Given the description of an element on the screen output the (x, y) to click on. 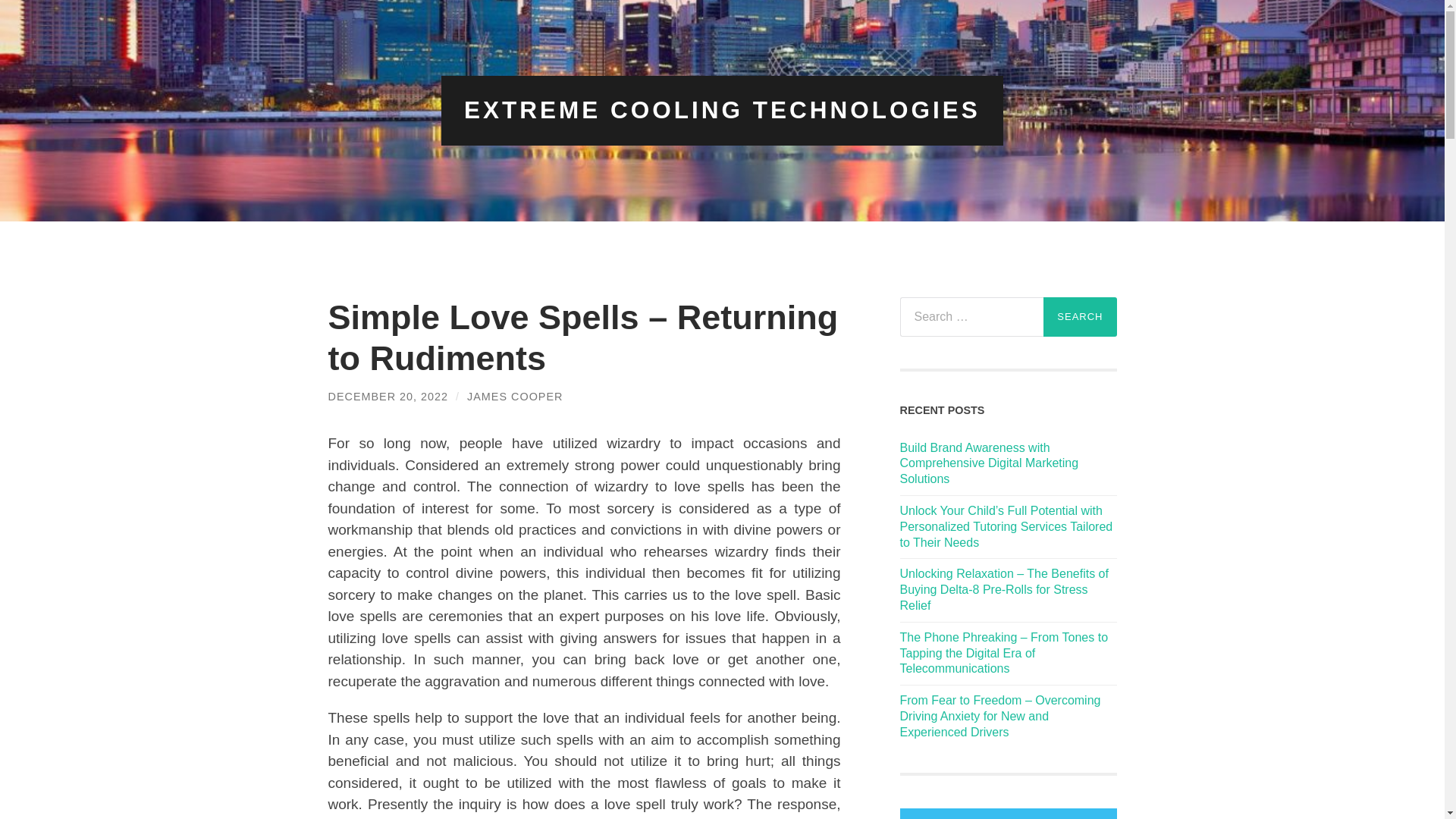
Search (1079, 316)
EXTREME COOLING TECHNOLOGIES (721, 109)
Search (1079, 316)
JAMES COOPER (514, 395)
DECEMBER 20, 2022 (387, 395)
Posts by James Cooper (514, 395)
Search (1079, 316)
